Given the description of an element on the screen output the (x, y) to click on. 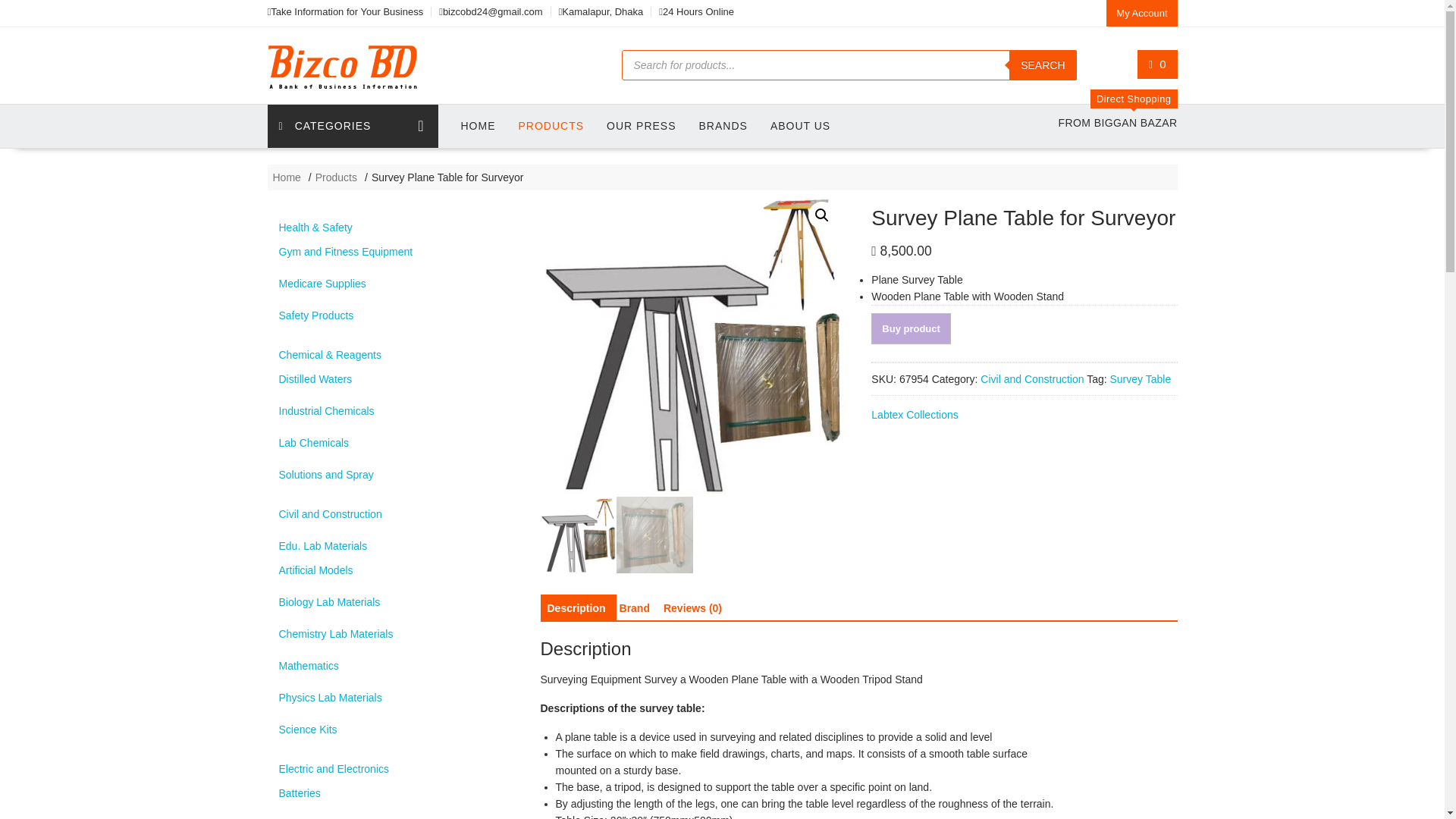
0 (1157, 63)
CATEGORIES (352, 126)
View brand (914, 414)
SEARCH (1042, 64)
My Account (1141, 13)
